Given the description of an element on the screen output the (x, y) to click on. 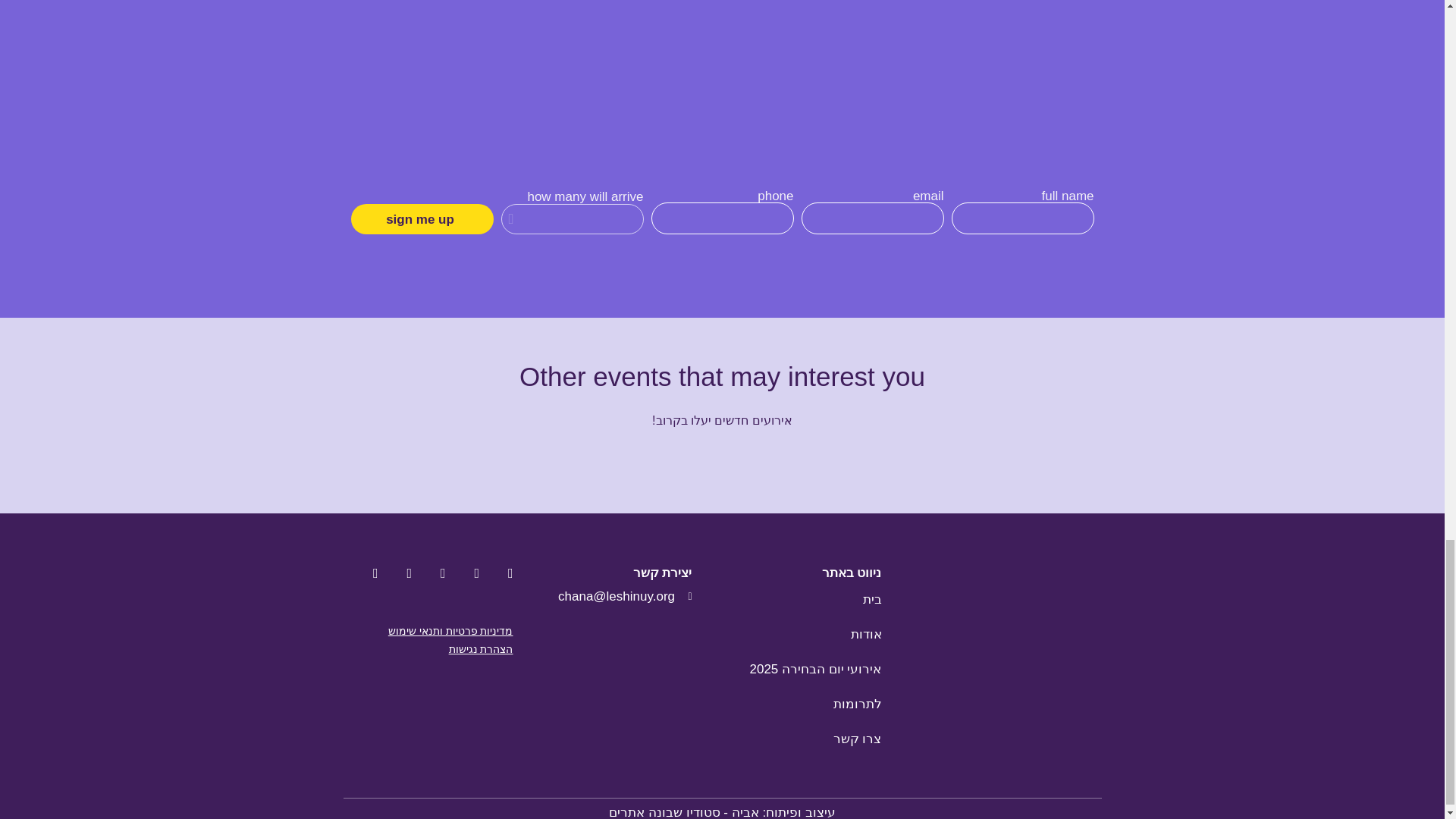
sign me up (421, 218)
